Given the description of an element on the screen output the (x, y) to click on. 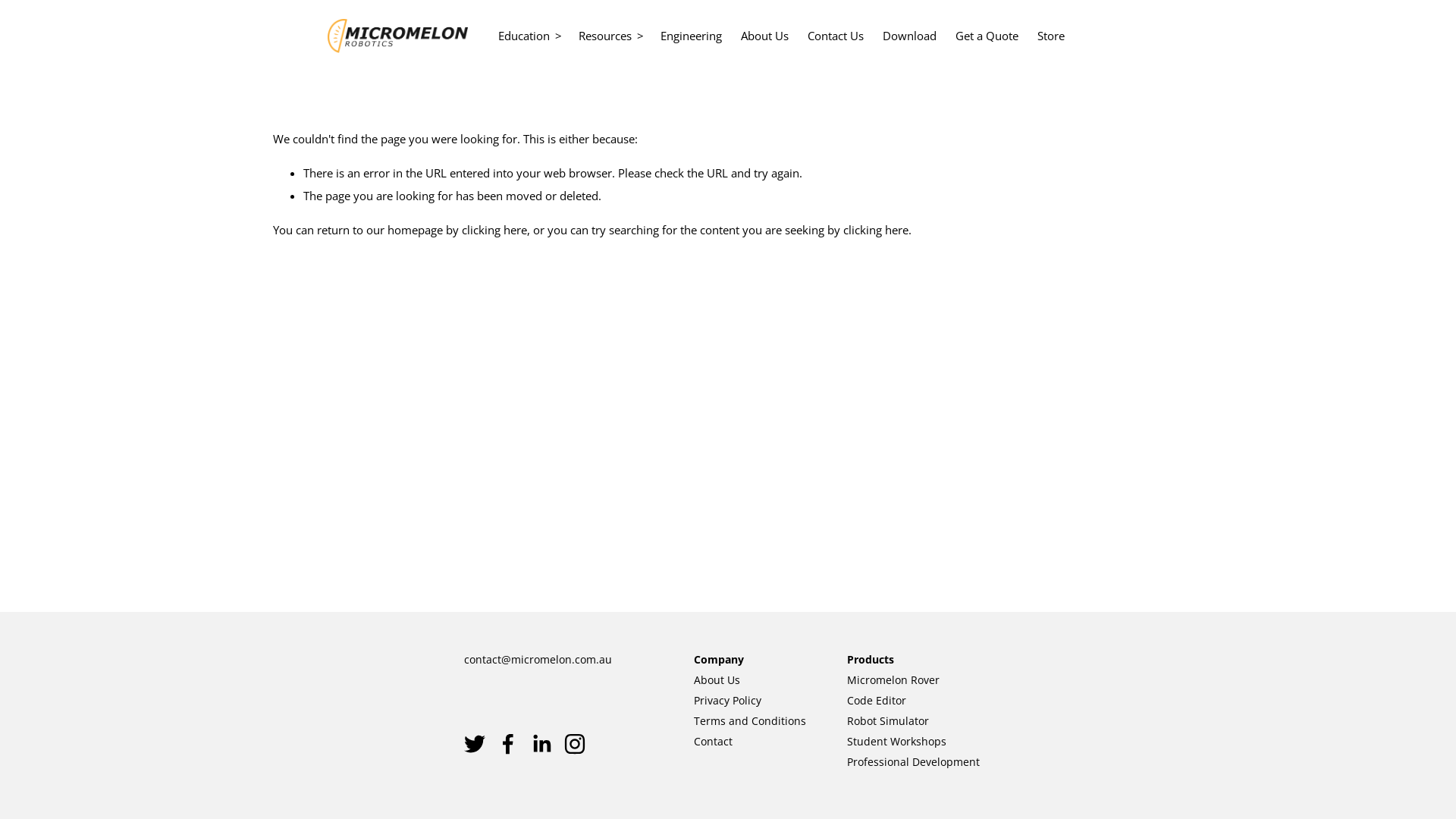
About Us Element type: text (764, 35)
About Us Element type: text (716, 680)
Download Element type: text (909, 35)
Get a Quote Element type: text (986, 35)
Code Editor Element type: text (876, 700)
clicking here Element type: text (875, 229)
Robot Simulator Element type: text (887, 721)
Micromelon Rover Element type: text (893, 680)
Privacy Policy Element type: text (727, 700)
contact@micromelon.com.au Element type: text (537, 659)
Resources Element type: text (611, 35)
Engineering Element type: text (690, 35)
Professional Development Element type: text (913, 762)
Terms and Conditions Element type: text (749, 721)
Education Element type: text (530, 35)
Store Element type: text (1050, 35)
clicking here Element type: text (494, 229)
Student Workshops Element type: text (896, 741)
Contact Element type: text (712, 741)
Contact Us Element type: text (835, 35)
